Given the description of an element on the screen output the (x, y) to click on. 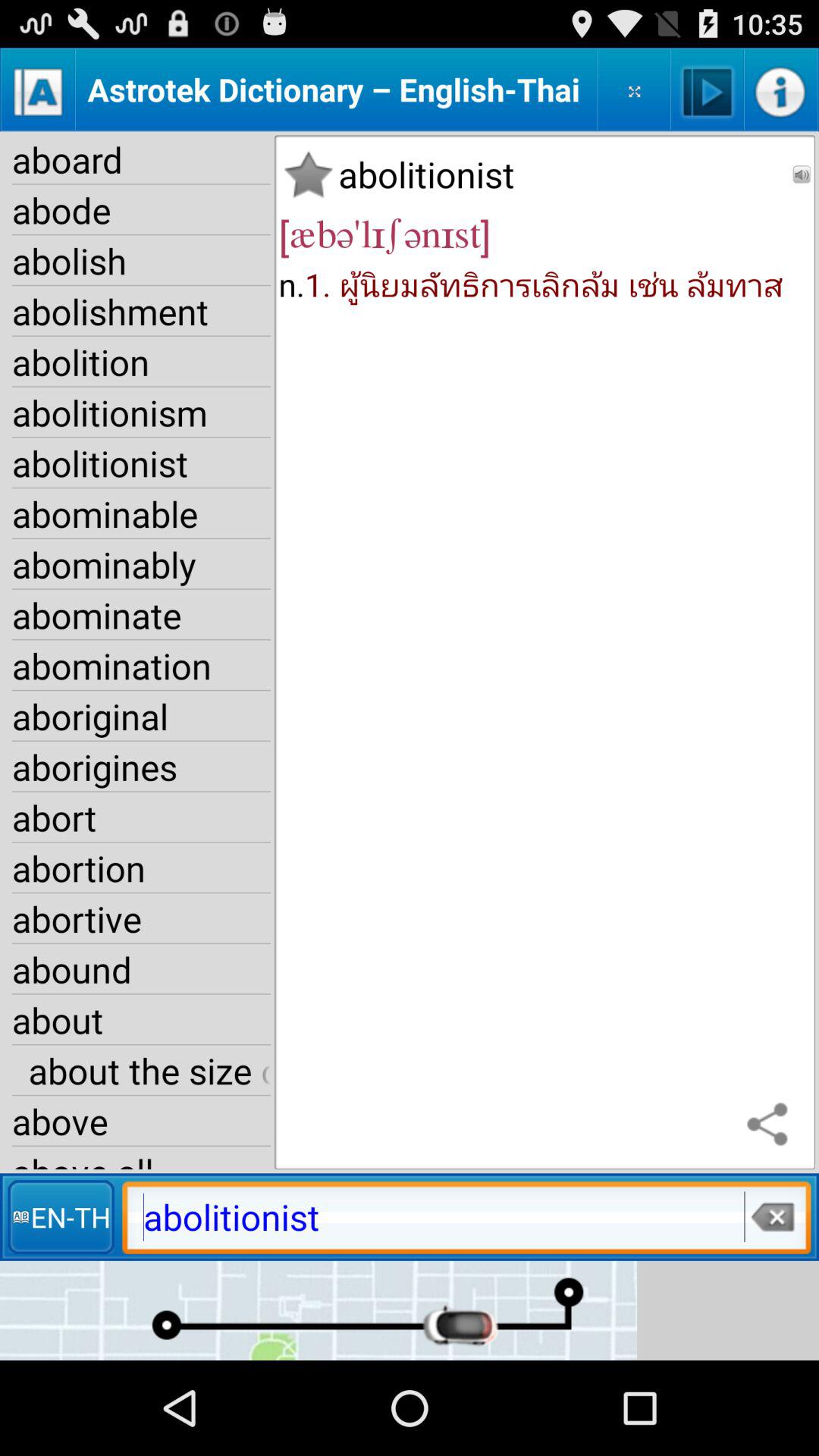
turn off app to the right of abolitionist item (801, 174)
